Given the description of an element on the screen output the (x, y) to click on. 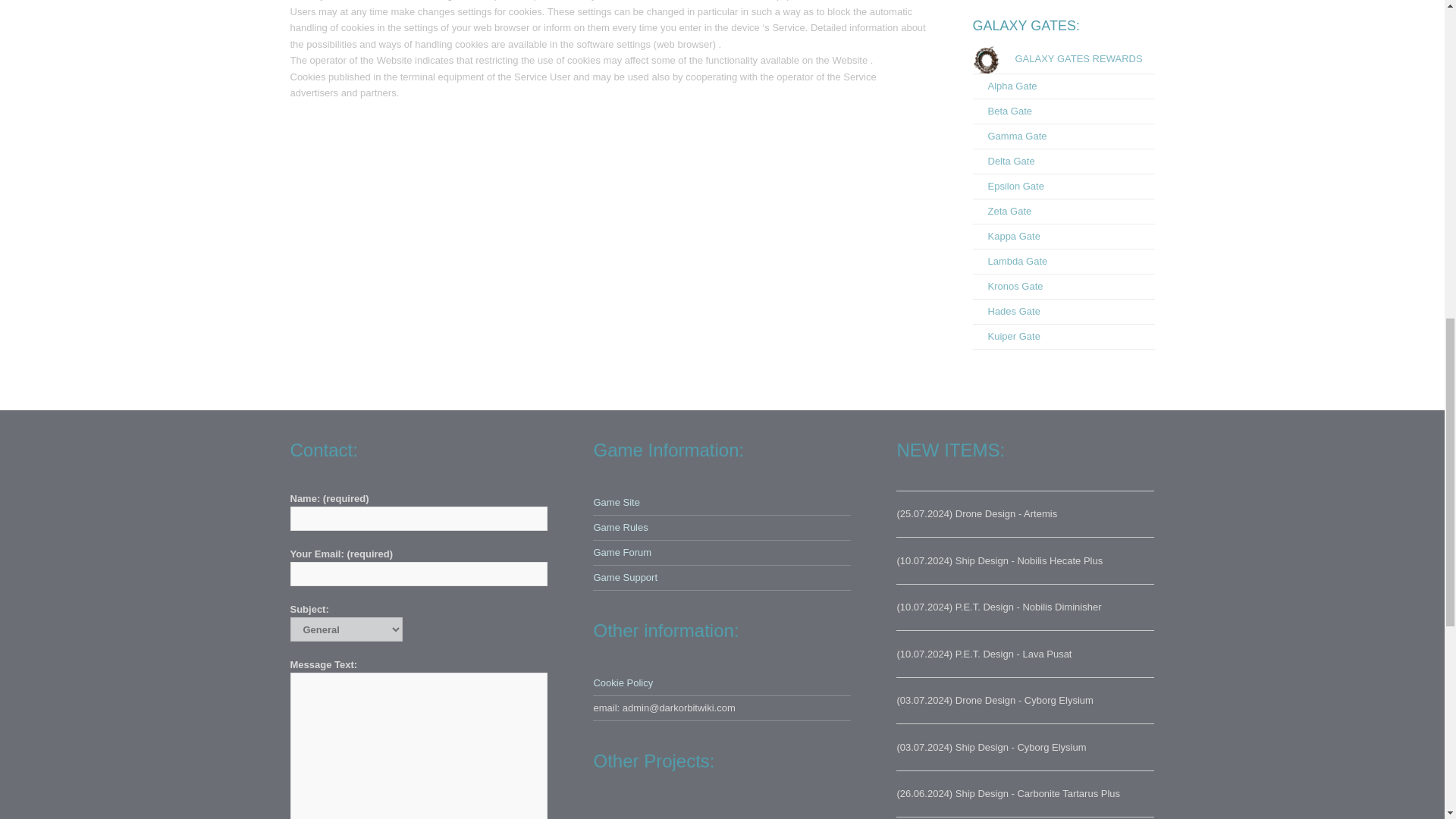
Kappa Gate (1005, 235)
Gamma Gate (1009, 135)
GALAXY GATES REWARDS (1056, 58)
Beta Gate (1002, 111)
Delta Gate (1002, 161)
Zeta Gate (1001, 211)
Epsilon Gate (1007, 185)
Alpha Gate (1004, 85)
